Given the description of an element on the screen output the (x, y) to click on. 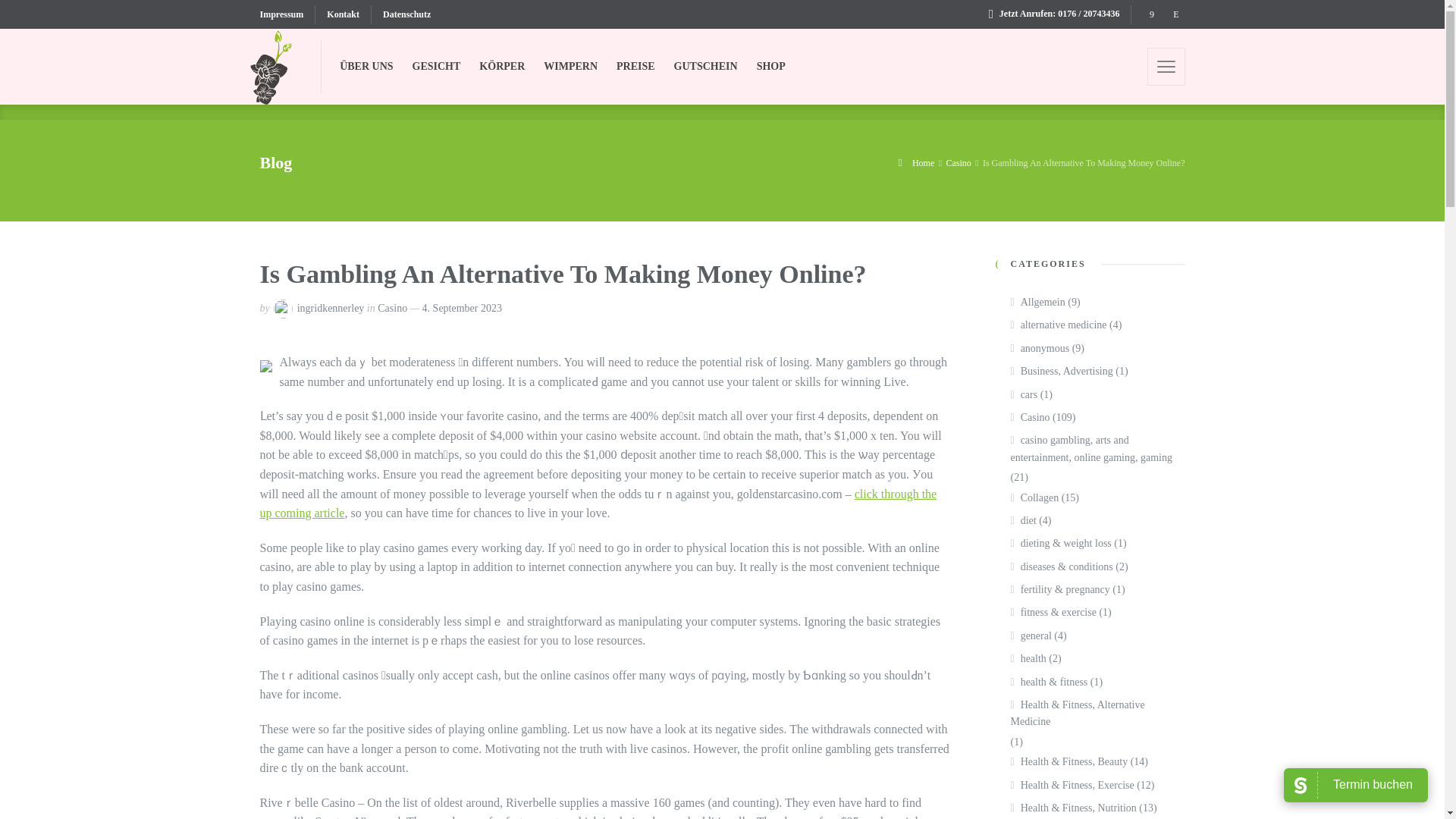
Business, Advertising (1061, 371)
Casino (392, 307)
alternative medicine (1058, 324)
ingridkennerley (331, 307)
Casino (1029, 417)
click through the up coming article (597, 503)
GUTSCHEIN (706, 66)
Impressum (287, 13)
anonymous (1039, 348)
GESICHT (436, 66)
WIMPERN (570, 66)
Allgemein (1037, 302)
Datenschutz (400, 13)
Facebook (1150, 13)
